Given the description of an element on the screen output the (x, y) to click on. 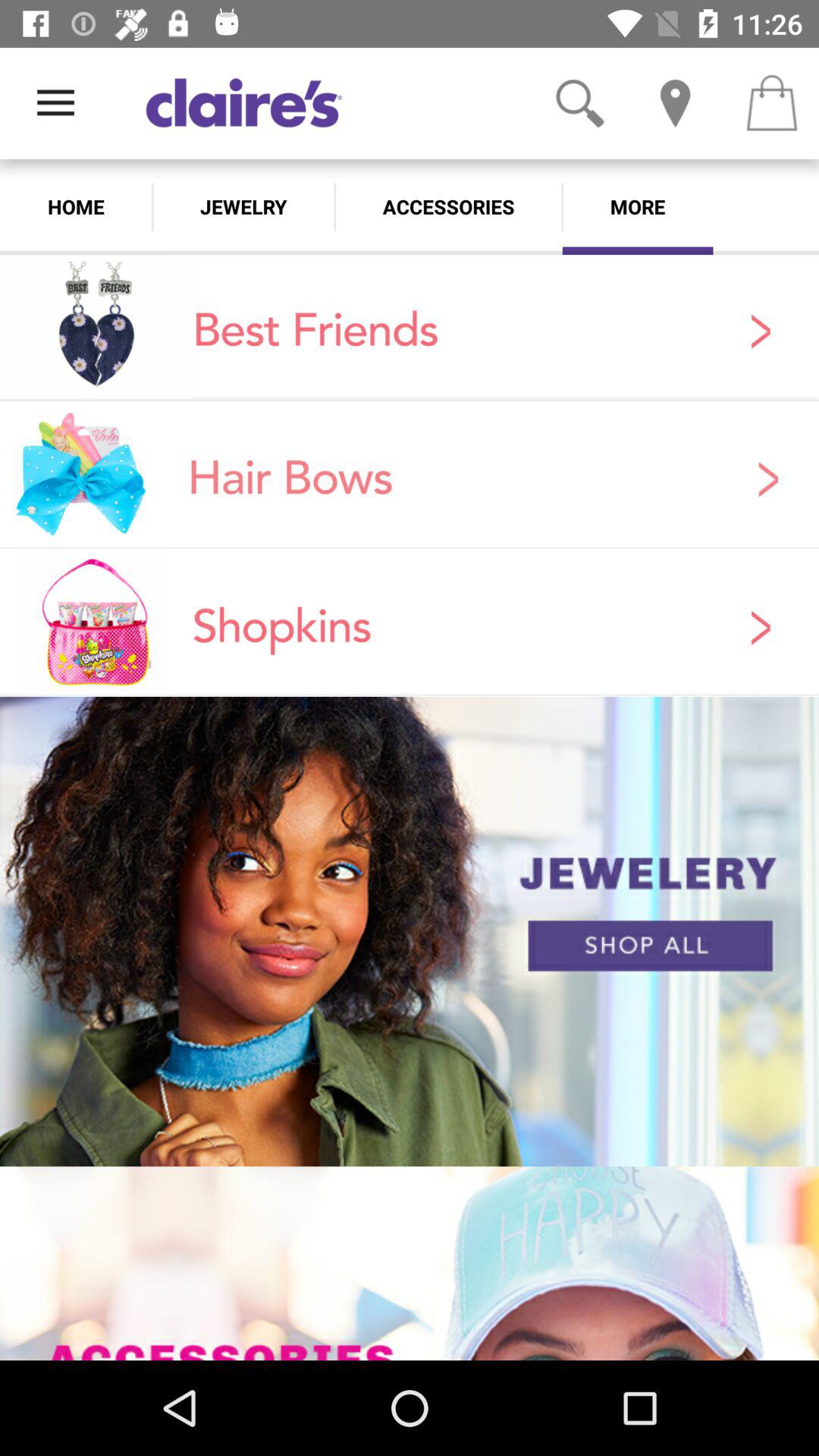
turn on the icon next to the accessories app (243, 206)
